Given the description of an element on the screen output the (x, y) to click on. 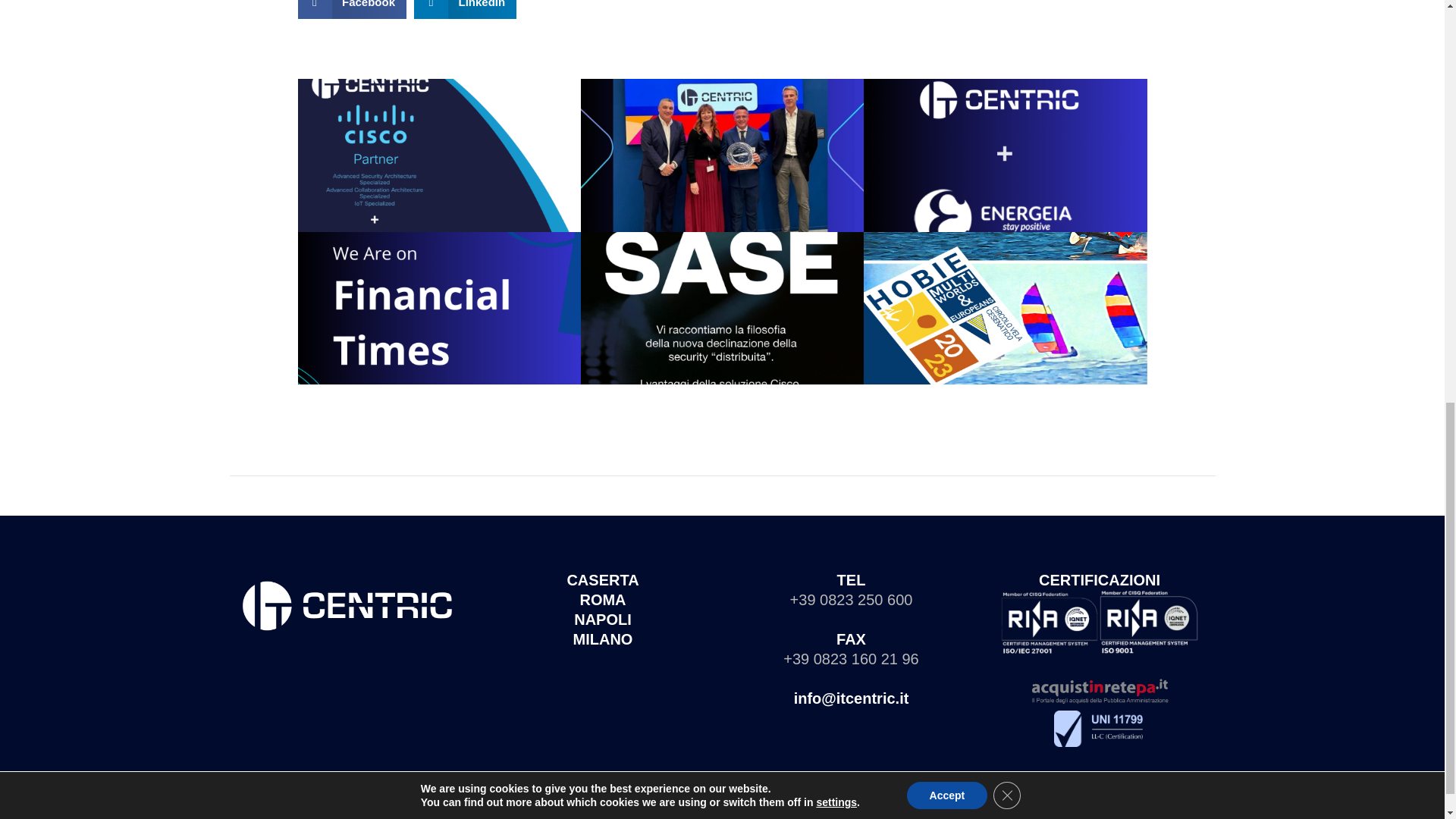
IT CENTRIC SPA - P.IVA IT04031090618 (651, 810)
SODO CREATIVE STUDIO (884, 810)
